Given the description of an element on the screen output the (x, y) to click on. 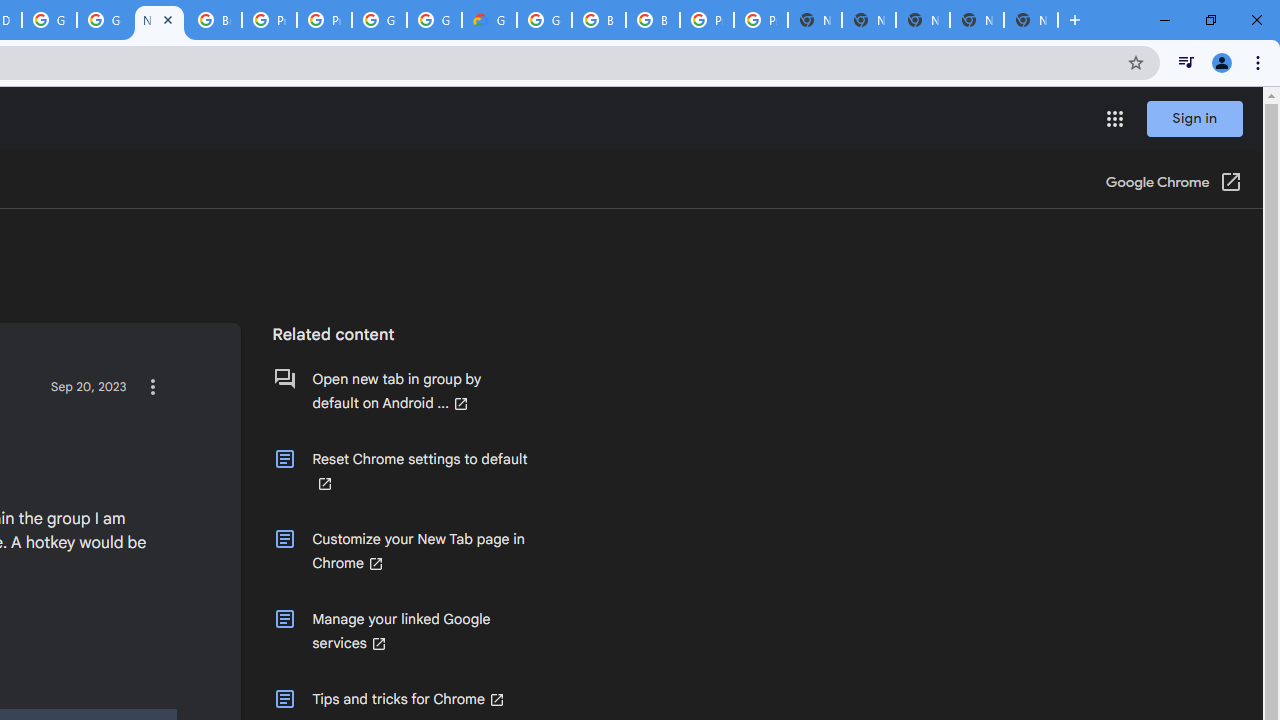
Reset Chrome settings to default (Opens in a new window) (400, 471)
Manage your linked Google services (Opens in a new window) (400, 631)
New Tab (1030, 20)
Google Cloud Platform (379, 20)
Google Cloud Platform (48, 20)
